Given the description of an element on the screen output the (x, y) to click on. 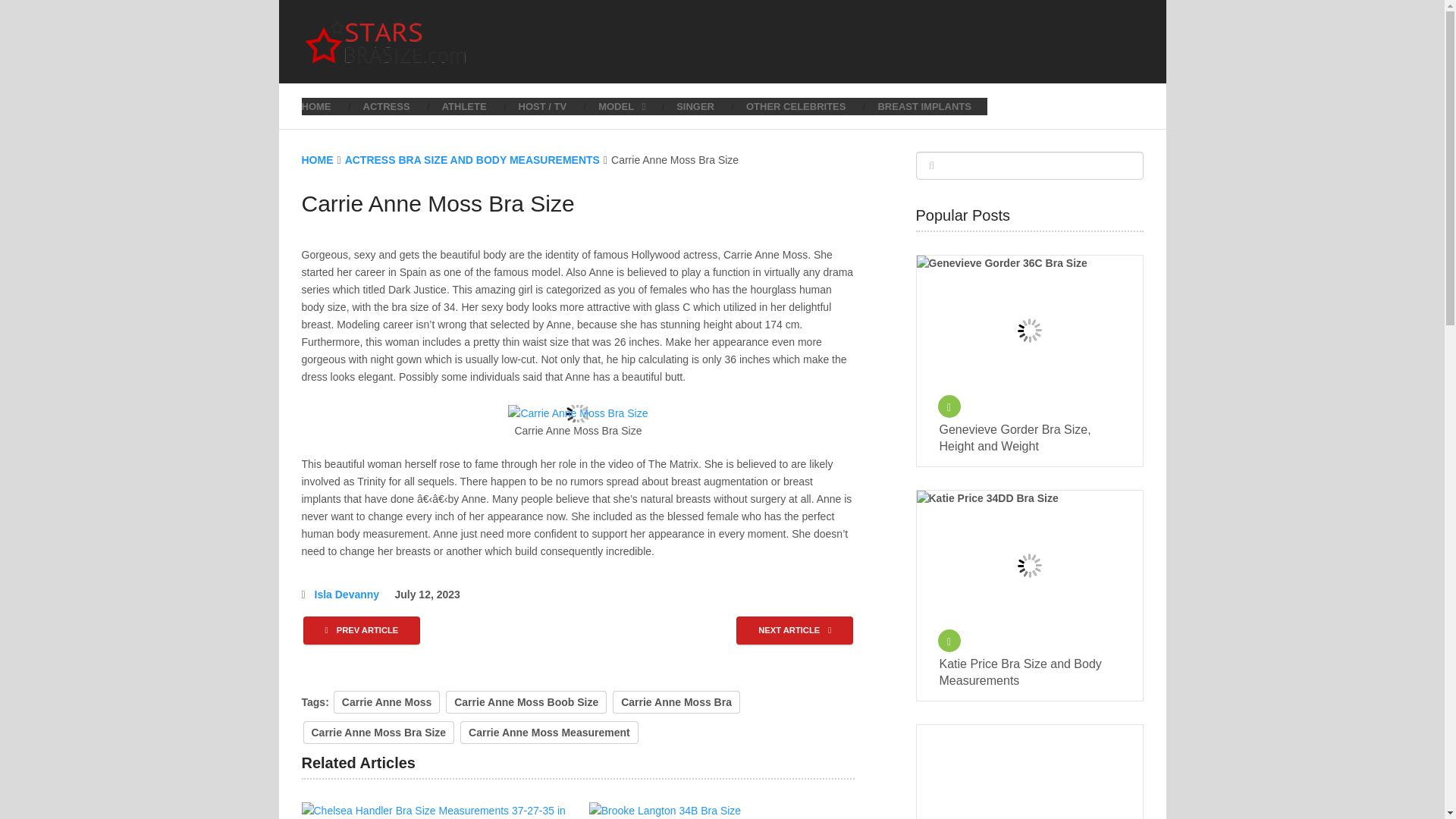
NEXT ARTICLE (794, 630)
Posts by Isla Devanny (347, 594)
BREAST IMPLANTS (924, 105)
Genevieve Gorder Bra Size, Height and Weight (1029, 438)
PREV ARTICLE (361, 630)
ACTRESS BRA SIZE AND BODY MEASUREMENTS (472, 159)
OTHER CELEBRITES (795, 105)
MODEL (621, 105)
ACTRESS (386, 105)
HOME (324, 105)
